Given the description of an element on the screen output the (x, y) to click on. 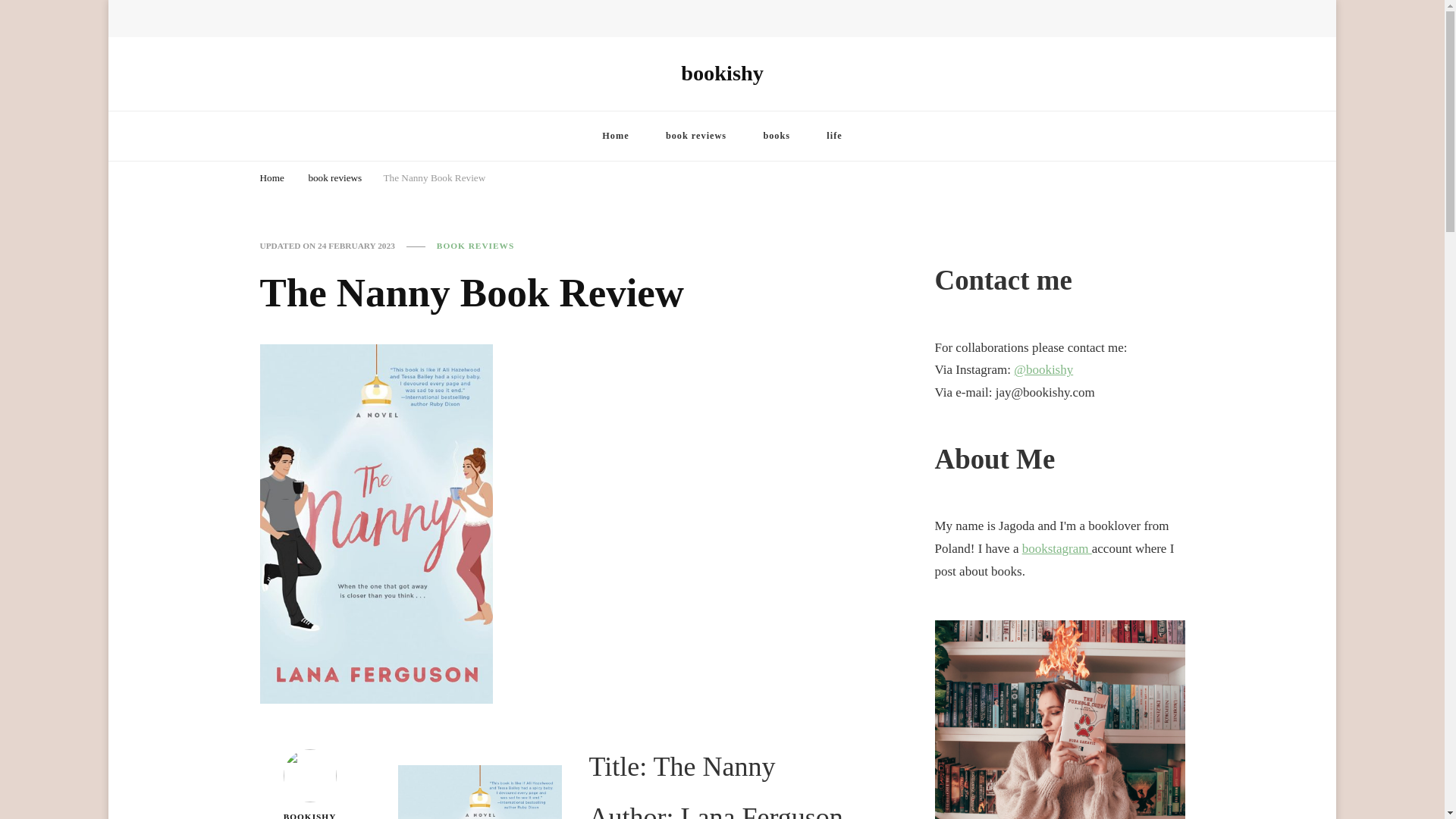
books (775, 135)
Home (615, 135)
Search (1148, 22)
Home (271, 178)
life (834, 135)
BOOK REVIEWS (474, 245)
bookishy (721, 73)
24 FEBRUARY 2023 (355, 245)
BOOKISHY (309, 784)
book reviews (695, 135)
The Nanny Book Review (433, 178)
book reviews (334, 178)
